Given the description of an element on the screen output the (x, y) to click on. 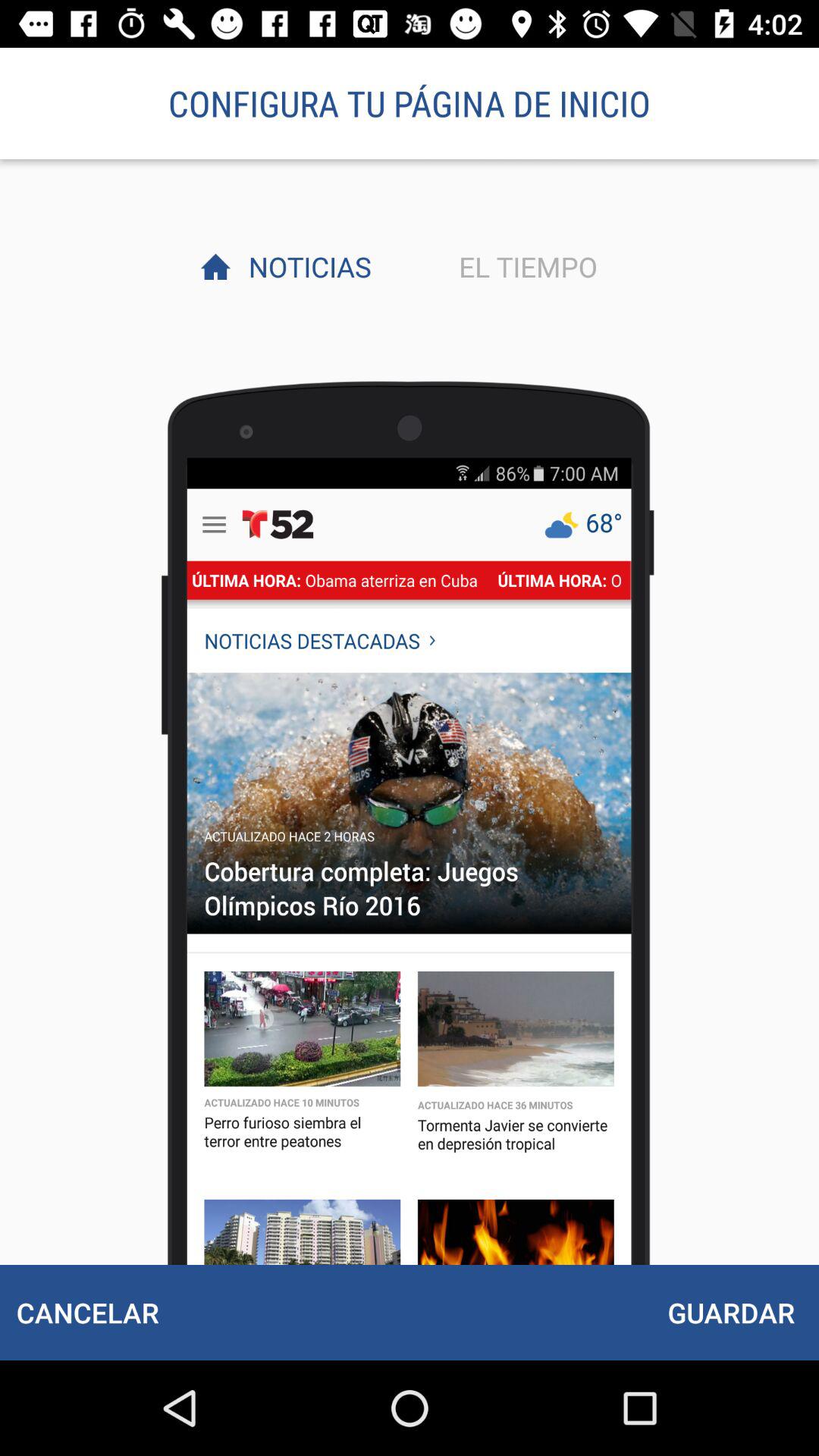
open the cancelar at the bottom left corner (87, 1312)
